Given the description of an element on the screen output the (x, y) to click on. 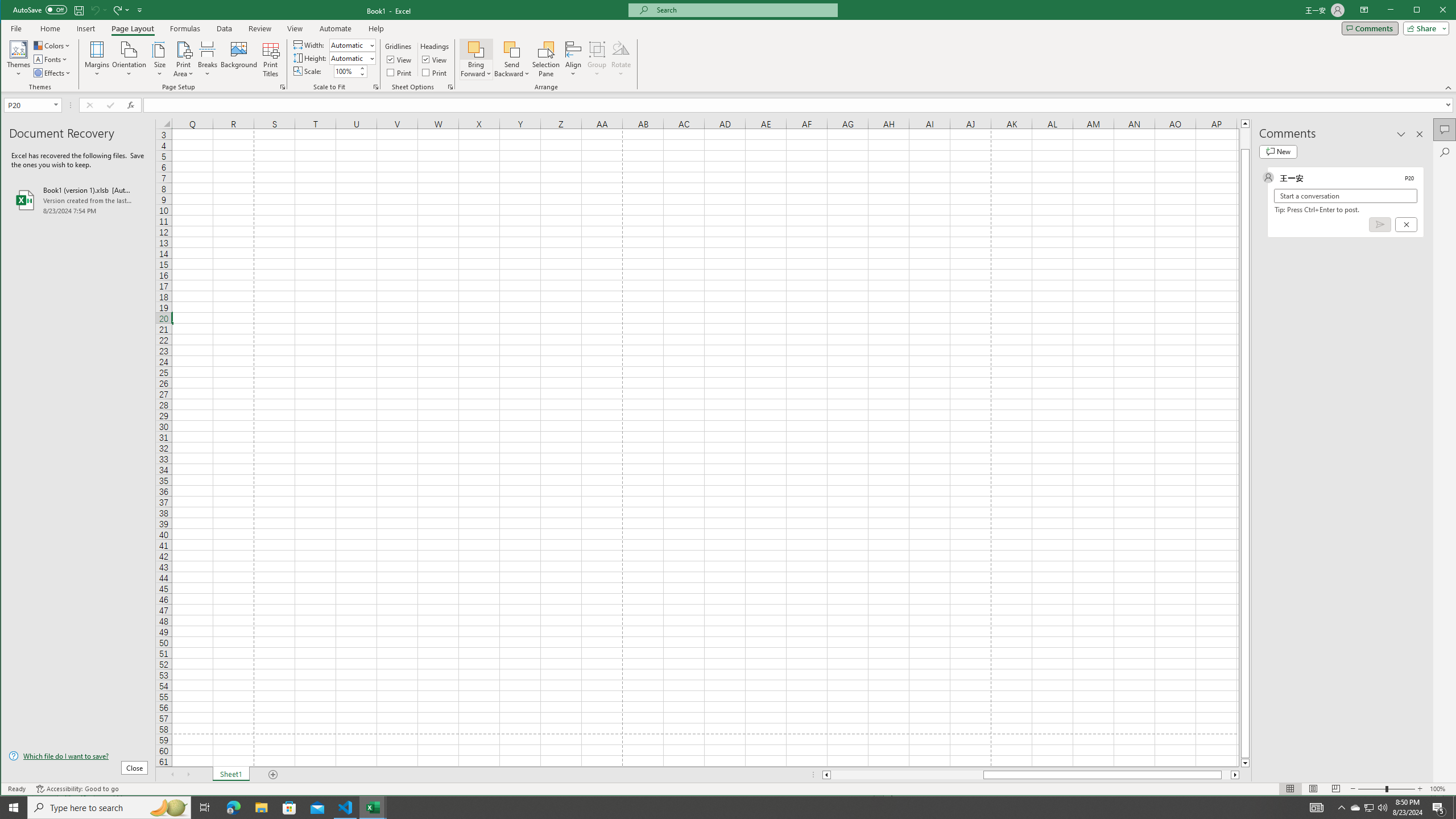
Cancel (1405, 224)
Page right (1225, 774)
Search (1444, 151)
User Promoted Notification Area (1368, 807)
Visual Studio Code - 1 running window (345, 807)
Class: MsoCommandBar (728, 45)
Print (434, 72)
Align (573, 59)
Start (13, 807)
